Given the description of an element on the screen output the (x, y) to click on. 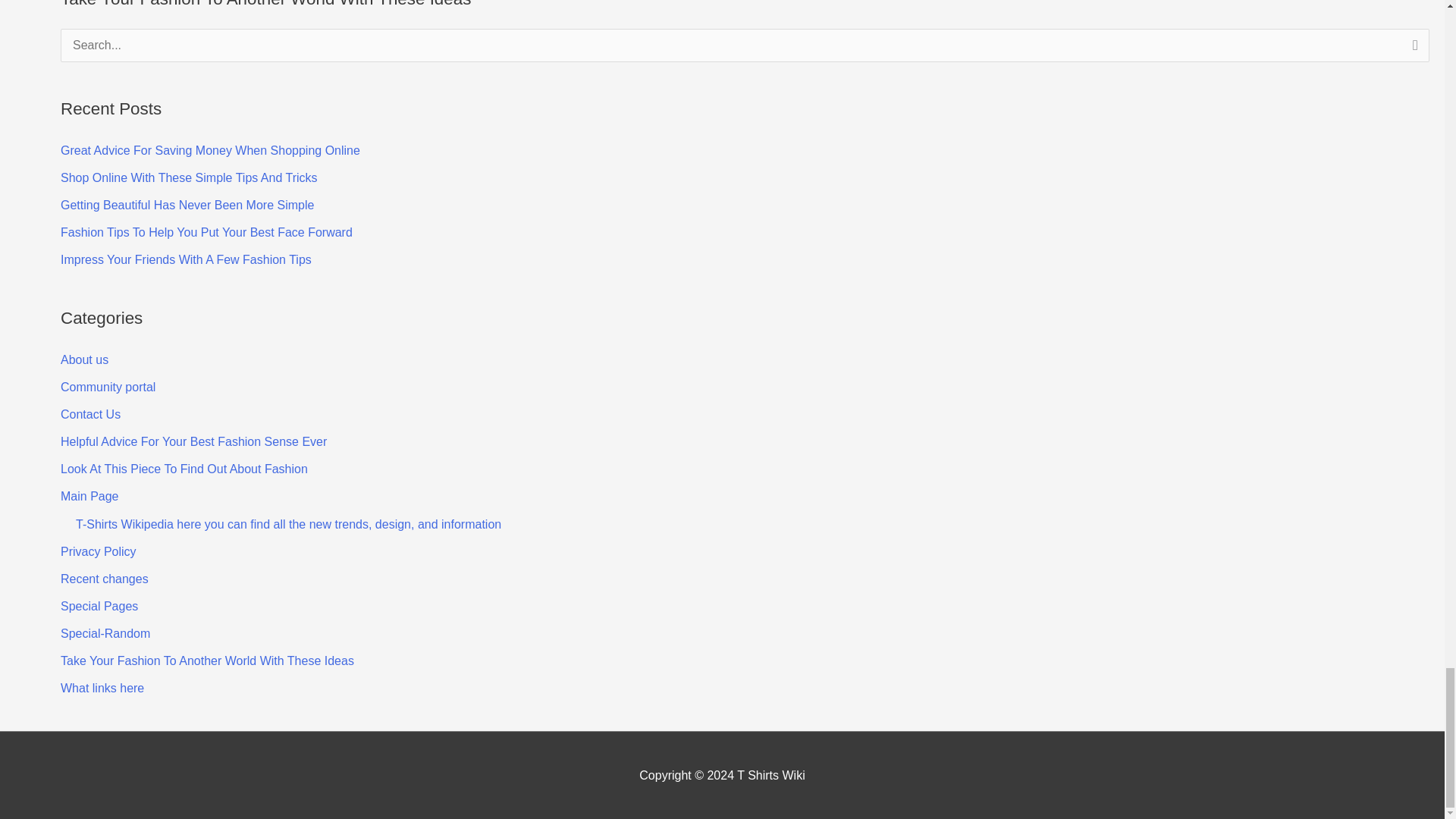
Take Your Fashion To Another World With These Ideas (207, 660)
Main Page (90, 495)
Special-Random (105, 633)
Fashion Tips To Help You Put Your Best Face Forward (206, 232)
What links here (102, 687)
Impress Your Friends With A Few Fashion Tips (186, 259)
Getting Beautiful Has Never Been More Simple (187, 205)
Recent changes (104, 578)
Great Advice For Saving Money When Shopping Online (210, 150)
